Given the description of an element on the screen output the (x, y) to click on. 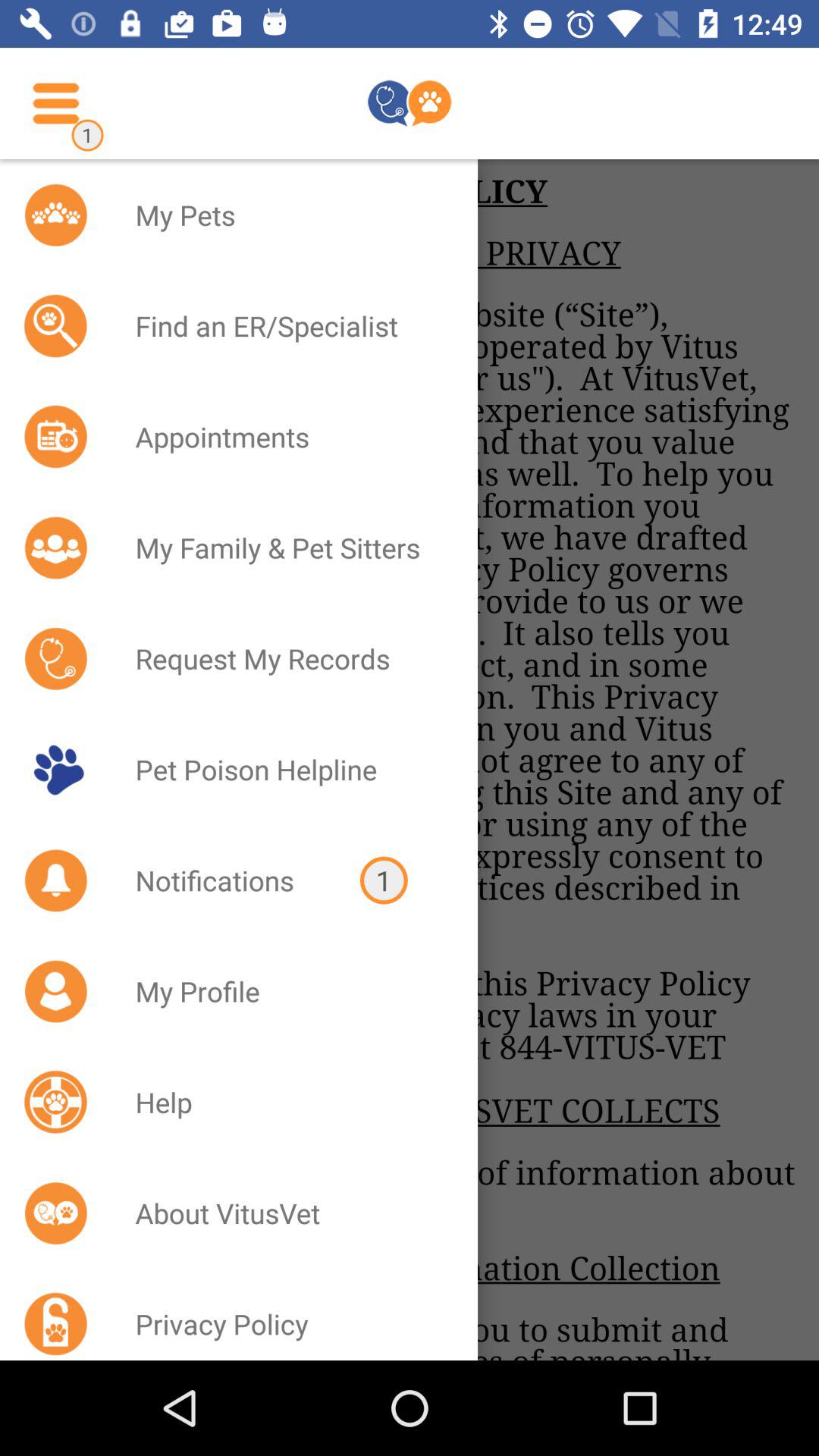
open the help (286, 1102)
